Given the description of an element on the screen output the (x, y) to click on. 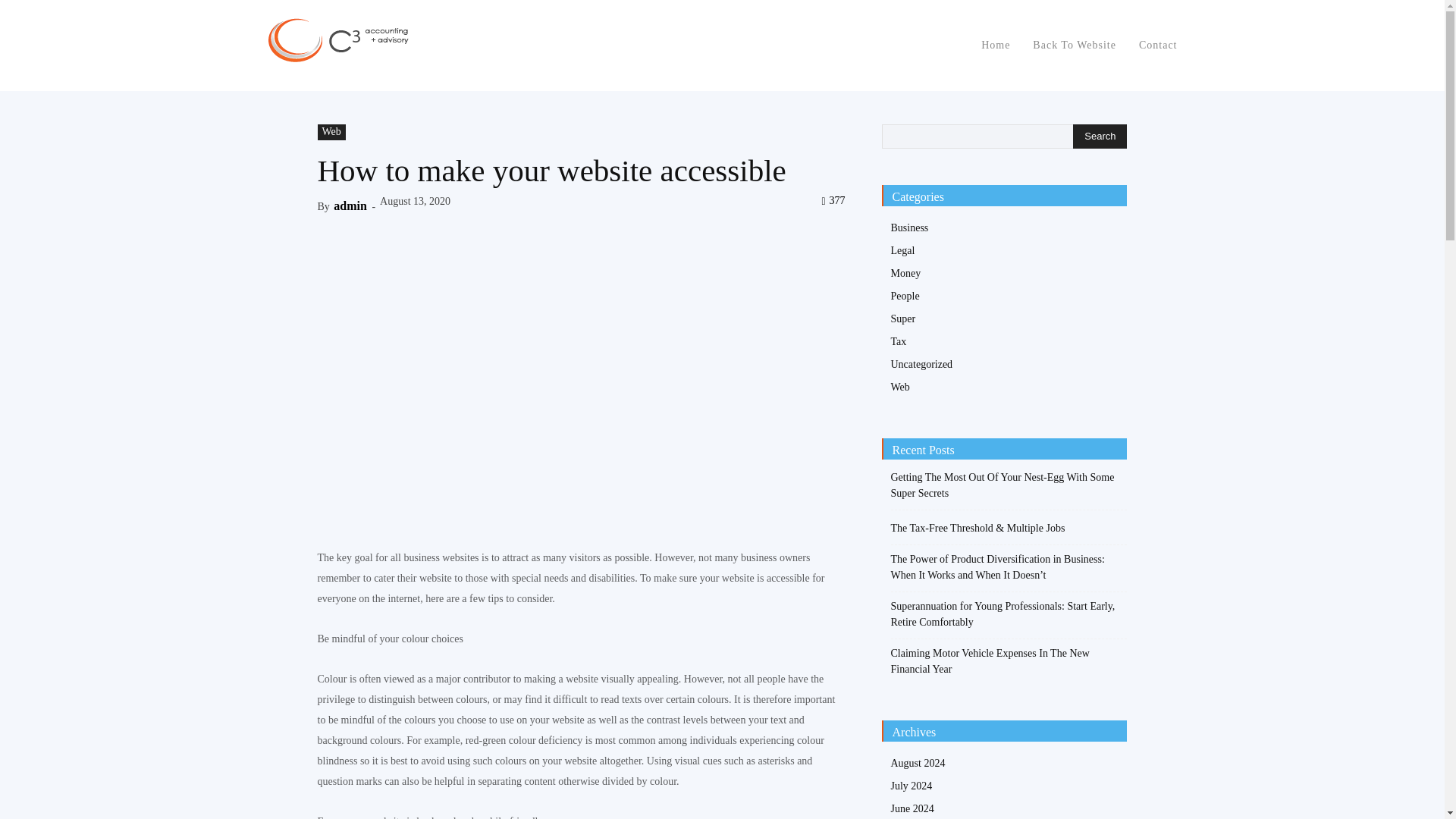
Web (331, 132)
Contact (1157, 45)
admin (349, 205)
Home (995, 45)
Search (1099, 136)
Back To Website (1074, 45)
C3 Advisory News (338, 41)
Search (1099, 136)
